Given the description of an element on the screen output the (x, y) to click on. 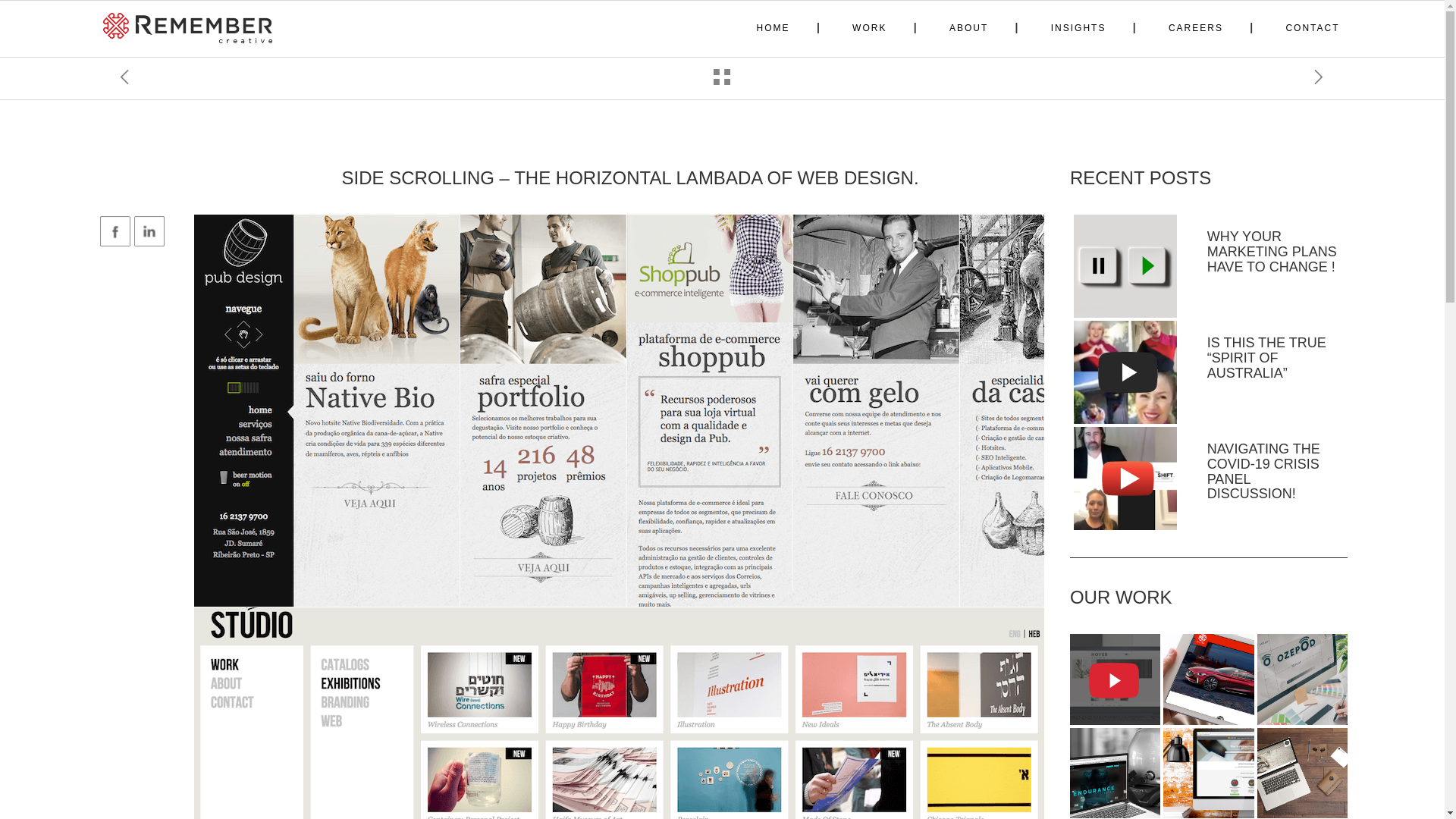
INSIGHTS (1078, 27)
HOME (773, 27)
WORK (868, 27)
Why your marketing plans have to change ! (1125, 265)
CAREERS (1196, 27)
Facebook (115, 231)
WHY YOUR MARKETING PLANS HAVE TO CHANGE ! (1271, 251)
LinkedIn (148, 231)
Why your marketing plans have to change ! (1271, 251)
REMEMBER CREATIVE (189, 28)
CONTACT (1312, 27)
ABOUT (968, 27)
